Given the description of an element on the screen output the (x, y) to click on. 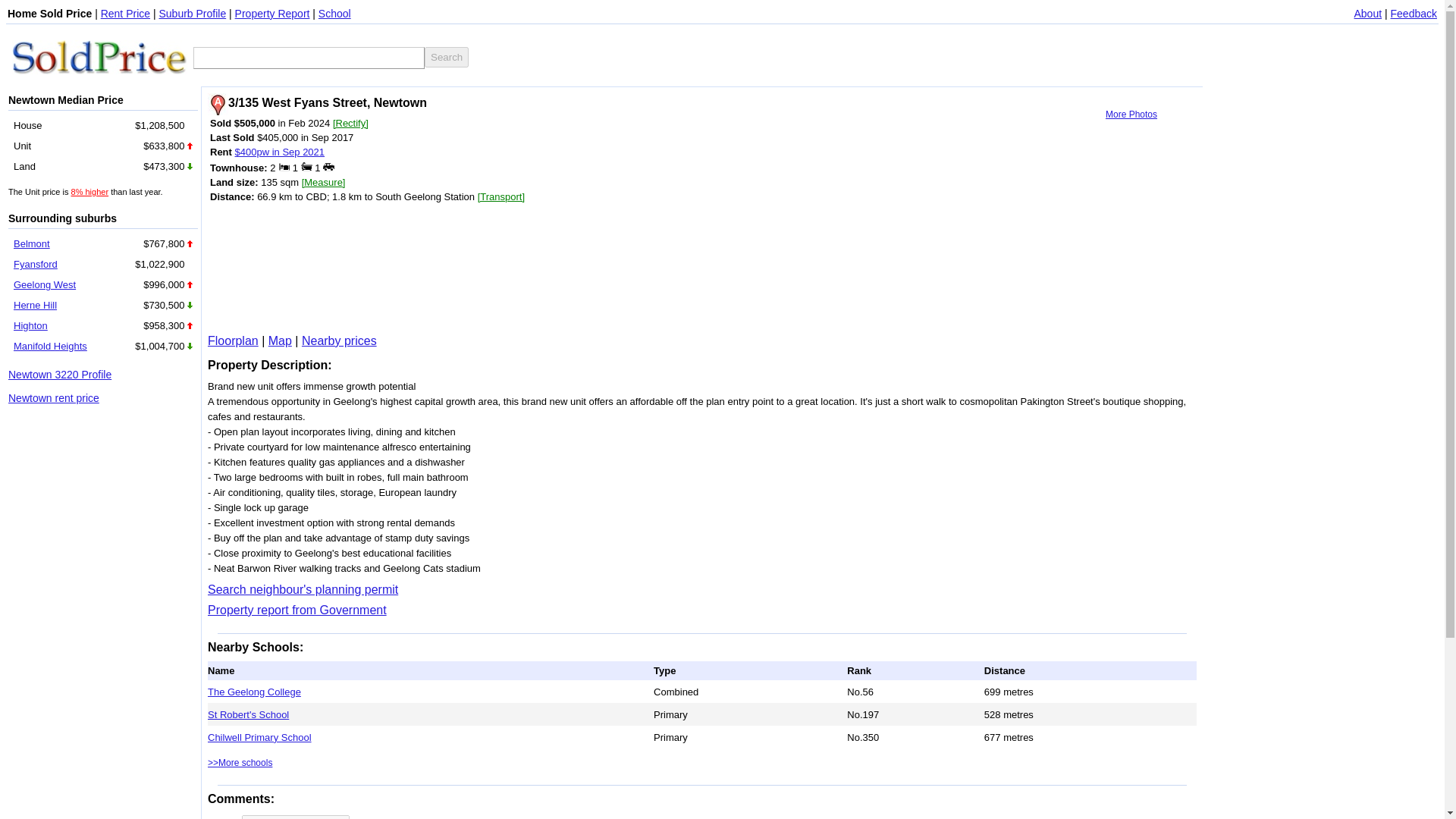
Advertisement (657, 56)
Floorplan (233, 340)
Property report from Government (297, 609)
St Robert's School (248, 713)
Advertisement (433, 267)
Manifold Heights (50, 346)
Geelong West (44, 284)
Nearby prices (339, 340)
The Geelong College (254, 690)
Search (446, 56)
Newtown rent price (53, 398)
Bath rooms (307, 165)
More Photos (1131, 113)
Chilwell Primary School (259, 736)
Property Report (272, 13)
